Given the description of an element on the screen output the (x, y) to click on. 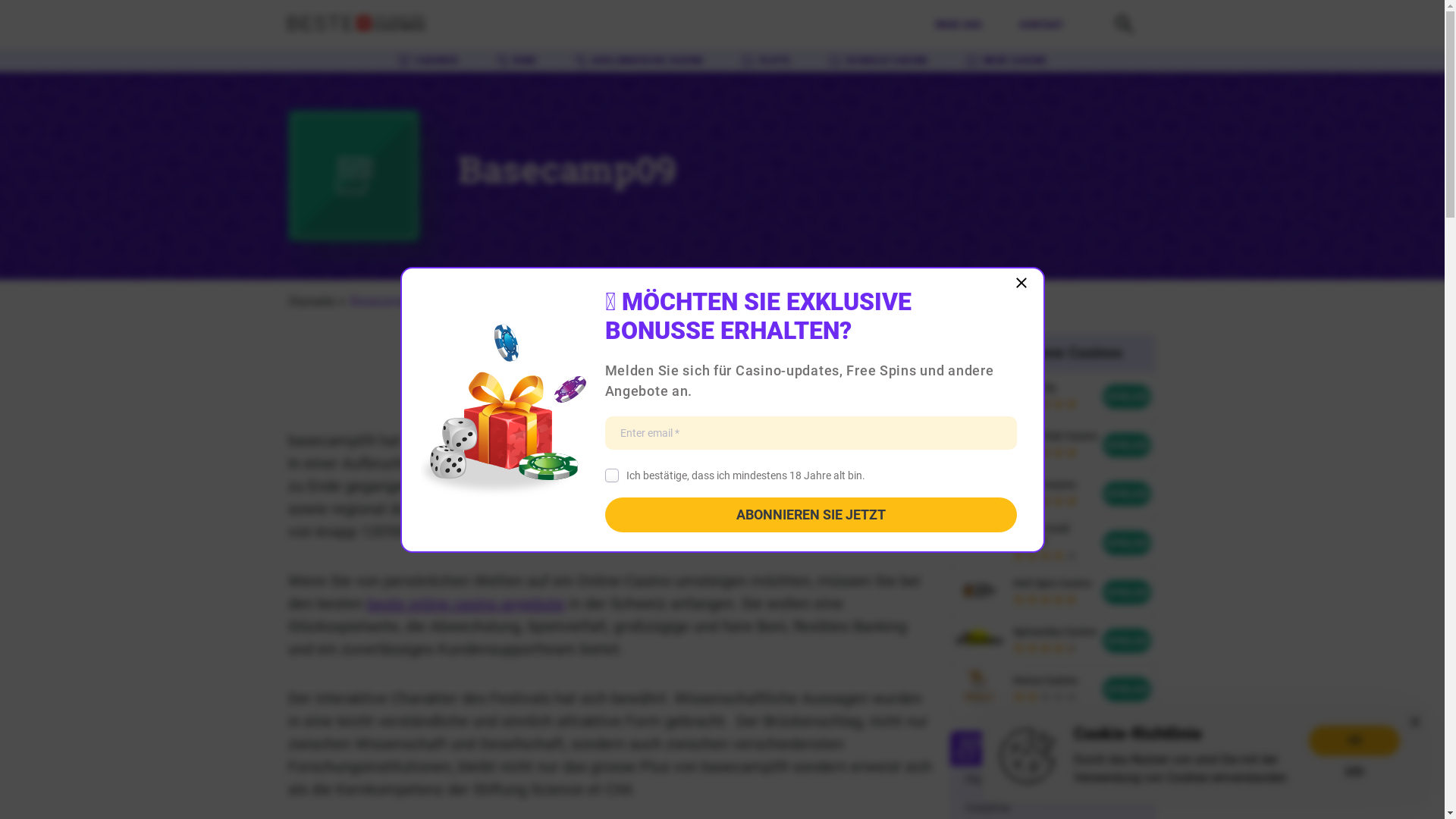
ECHGELD CASINO Element type: text (878, 60)
SPIELEN Element type: text (1126, 396)
Starseite Element type: text (311, 301)
SPIELEN Element type: text (1126, 445)
SPIELEN Element type: text (1126, 639)
KONTAKT Element type: text (1041, 24)
SPIELEN Element type: text (1126, 542)
BONI Element type: text (515, 60)
ABONNIEREN SIE JETZT Element type: text (810, 514)
beste online casino angebote Element type: text (465, 603)
SPIELEN Element type: text (1126, 688)
SPIELEN Element type: text (1126, 591)
Playamo Element type: text (986, 779)
CASINOS Element type: text (428, 60)
NEUE CASINO Element type: text (1006, 60)
SPIELEN Element type: text (1126, 493)
Suchen Element type: text (1123, 32)
info Element type: text (1353, 770)
SLOTS Element type: text (765, 60)
OK Element type: text (1353, 739)
CrazyFox Element type: text (987, 807)
